Given the description of an element on the screen output the (x, y) to click on. 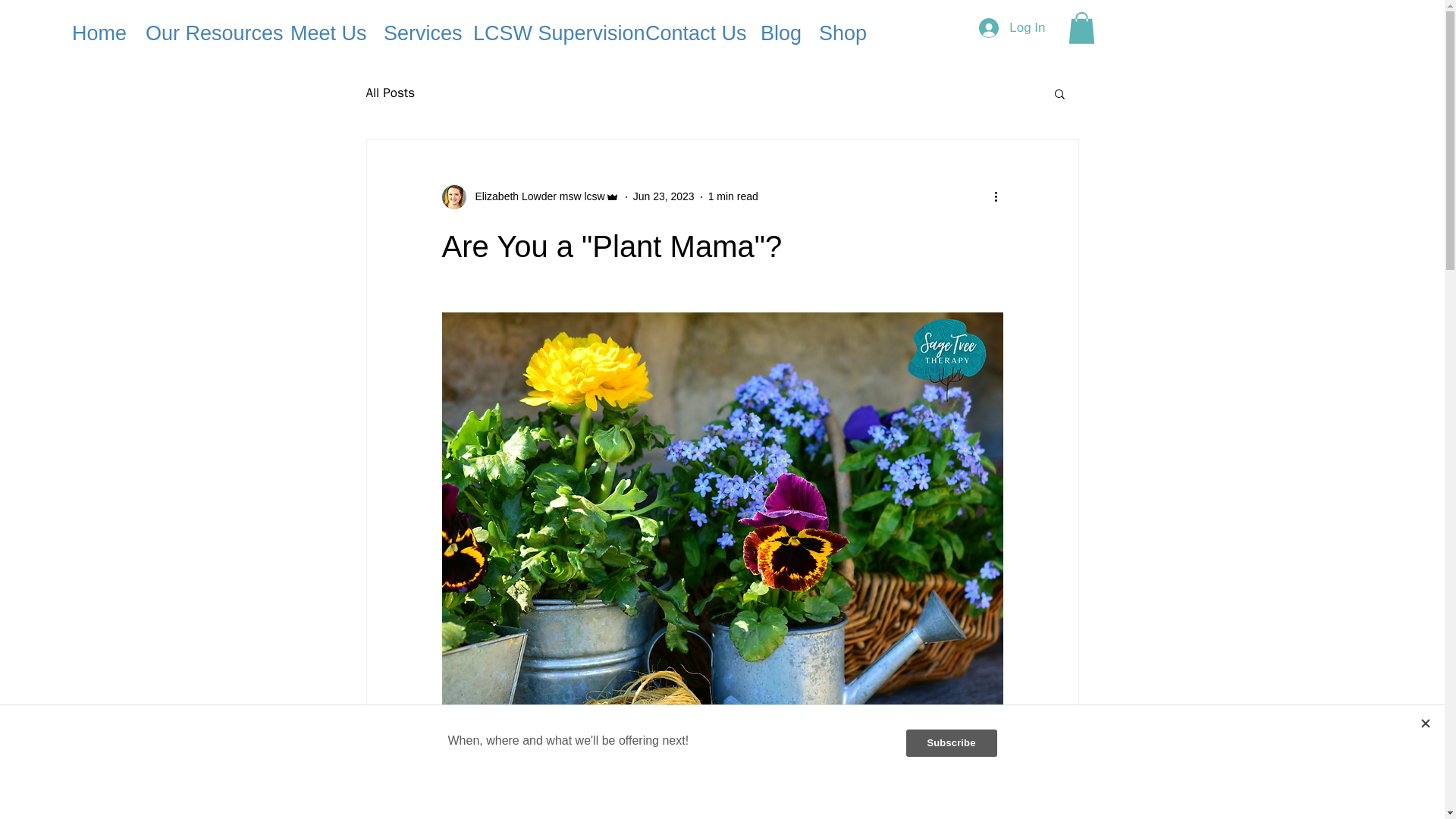
Elizabeth Lowder msw lcsw (529, 197)
Shop (839, 33)
Jun 23, 2023 (663, 196)
Log In (1011, 27)
Contact Us (691, 33)
Blog (778, 33)
Services (416, 33)
Elizabeth Lowder msw lcsw (534, 196)
Our Resources (206, 33)
1 min read (732, 196)
LCSW Supervision (547, 33)
Meet Us (325, 33)
Home (97, 33)
All Posts (389, 92)
